Given the description of an element on the screen output the (x, y) to click on. 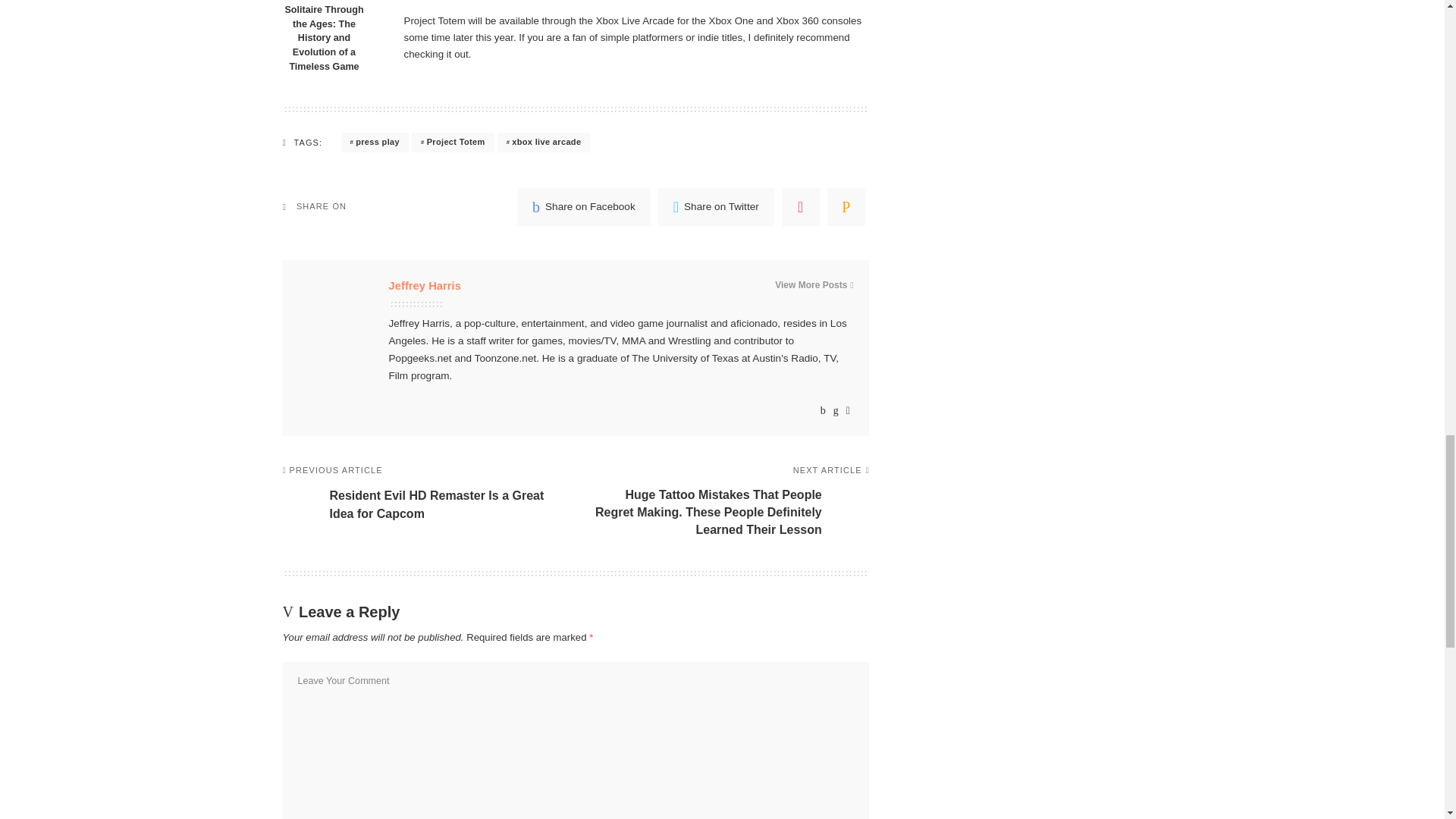
Project Totem (453, 142)
press play (374, 142)
xbox live arcade (544, 142)
Facebook (583, 207)
